Given the description of an element on the screen output the (x, y) to click on. 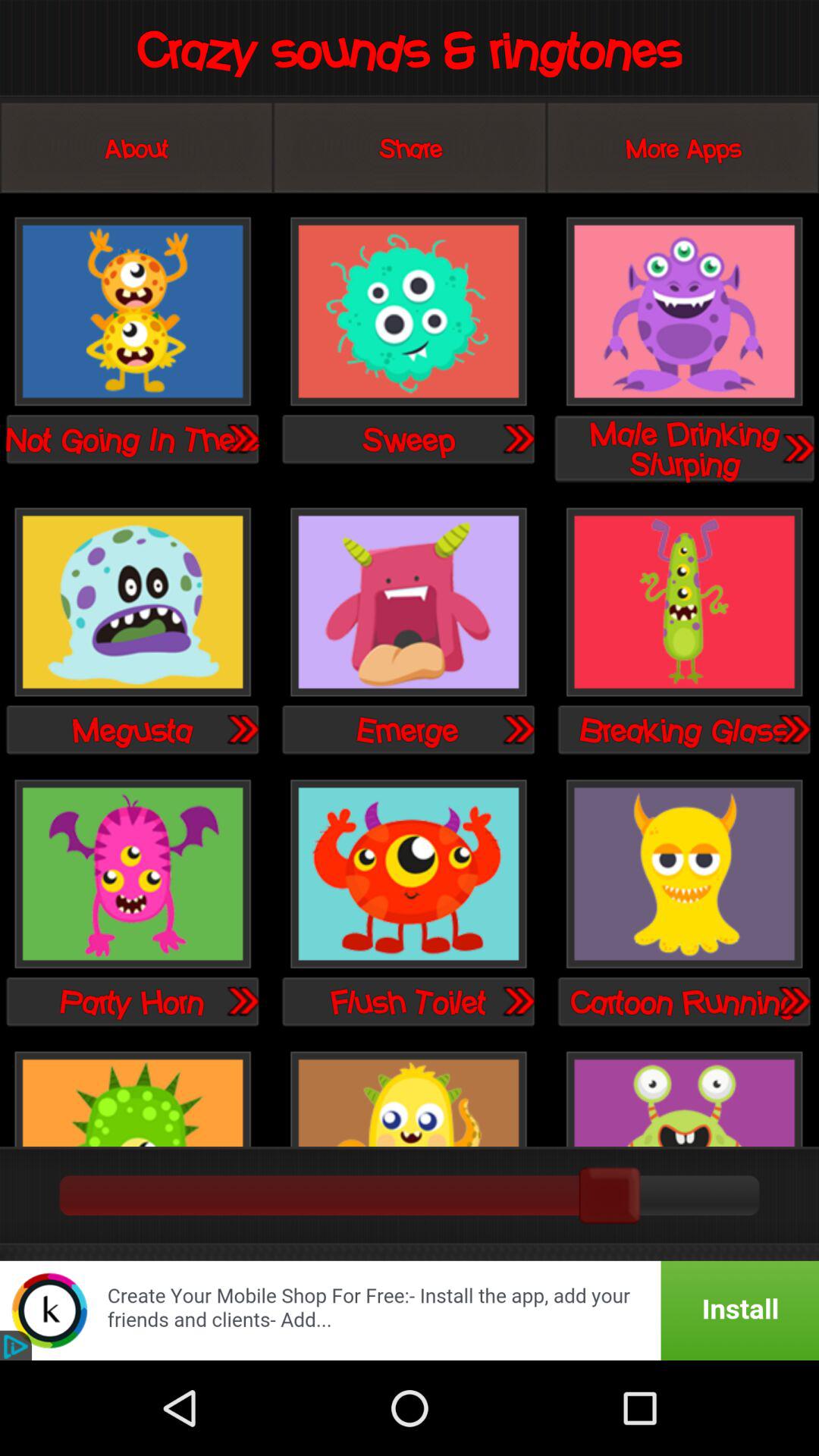
select party horn sound (132, 874)
